Given the description of an element on the screen output the (x, y) to click on. 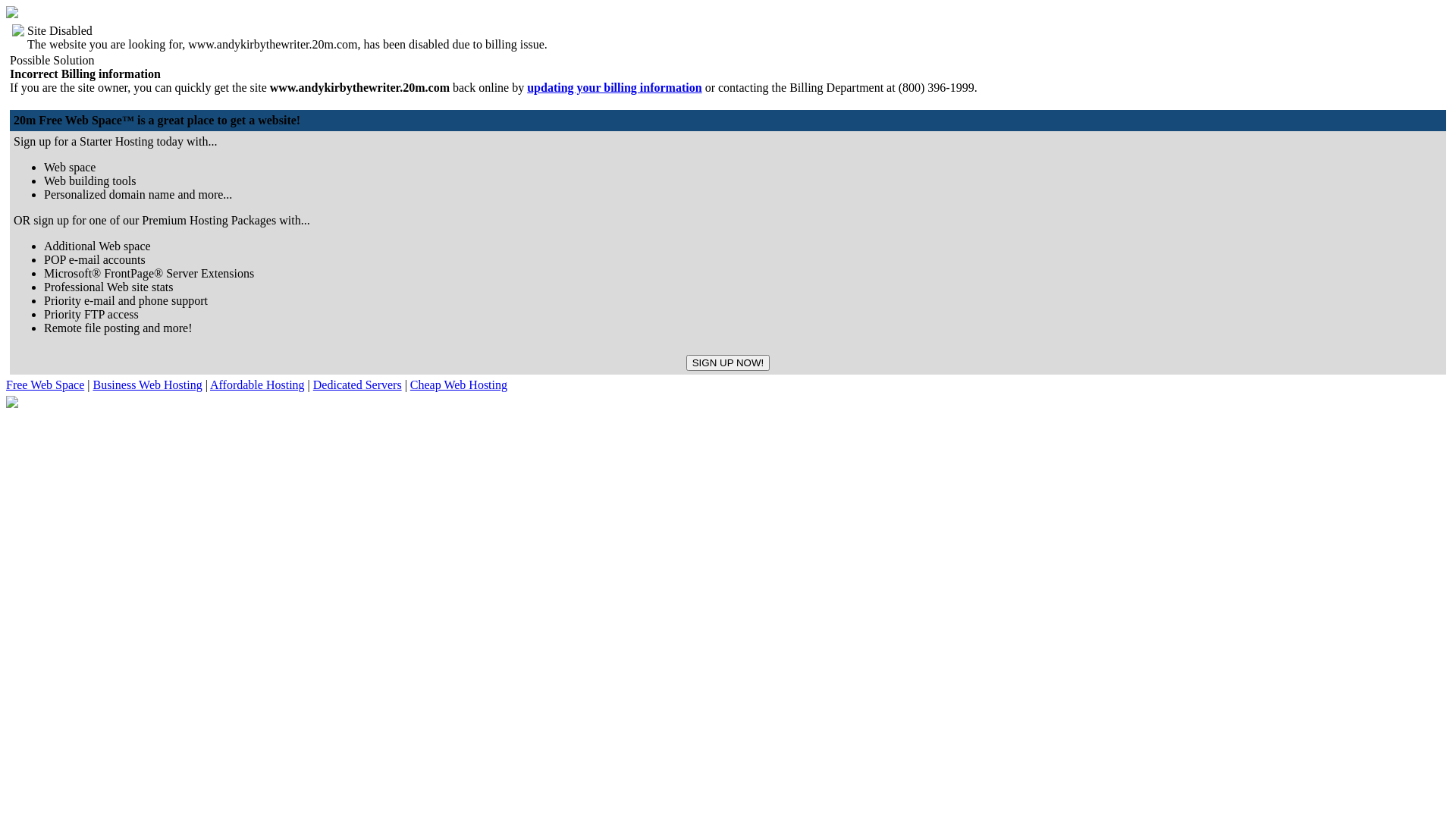
Affordable Hosting Element type: text (257, 384)
Business Web Hosting Element type: text (146, 384)
Cheap Web Hosting Element type: text (458, 384)
Free Web Space Element type: text (45, 384)
updating your billing information Element type: text (614, 87)
Dedicated Servers Element type: text (357, 384)
SIGN UP NOW! Element type: text (728, 362)
